Given the description of an element on the screen output the (x, y) to click on. 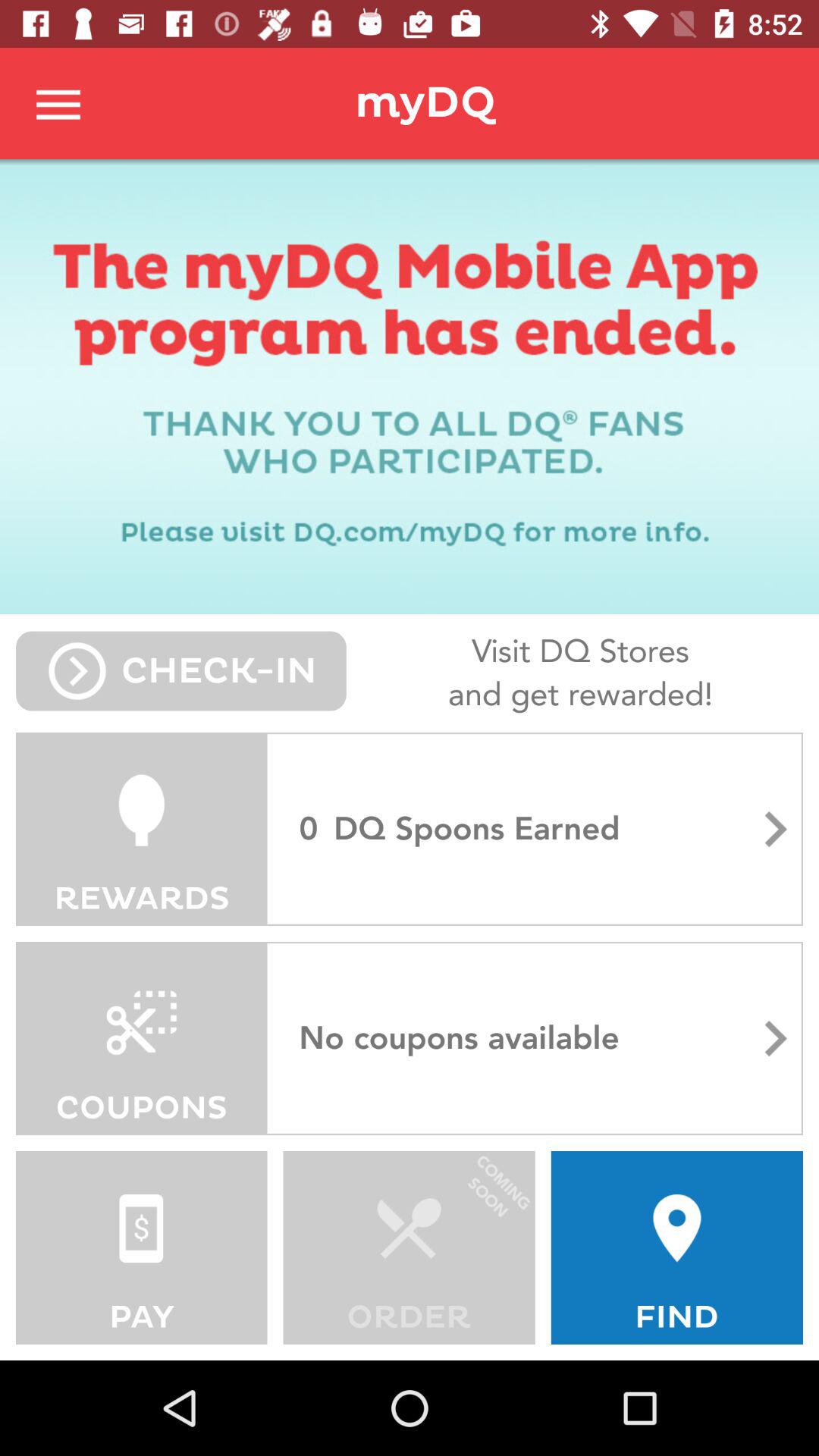
select menu (59, 103)
